Given the description of an element on the screen output the (x, y) to click on. 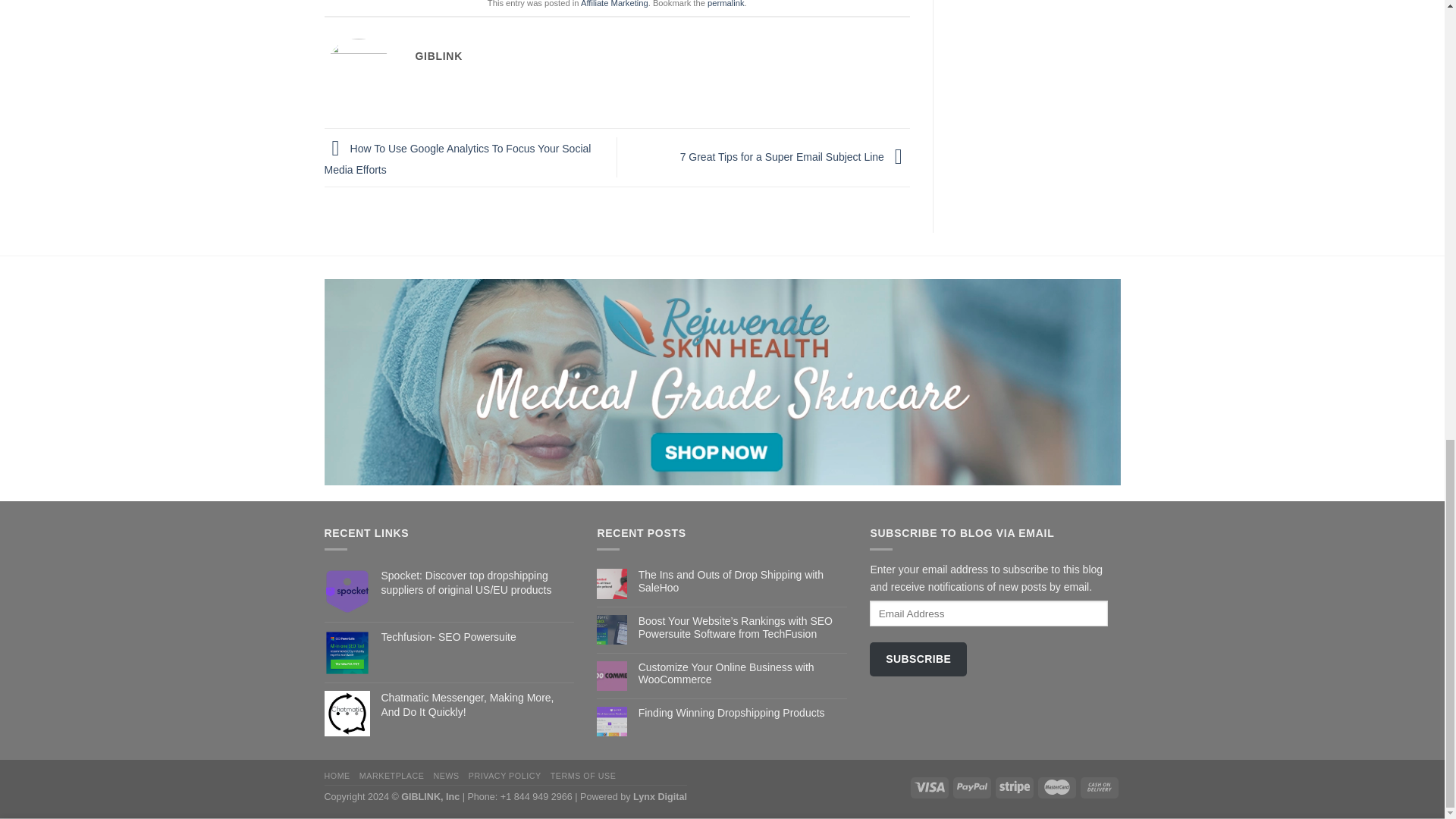
Customize Your Online Business with WooCommerce (743, 673)
The Ins and Outs of Drop Shipping with SaleHoo (743, 581)
Finding Winning Dropshipping Products (743, 712)
Permalink to 11 sources of Non-Stop Traffic! (725, 3)
